Given the description of an element on the screen output the (x, y) to click on. 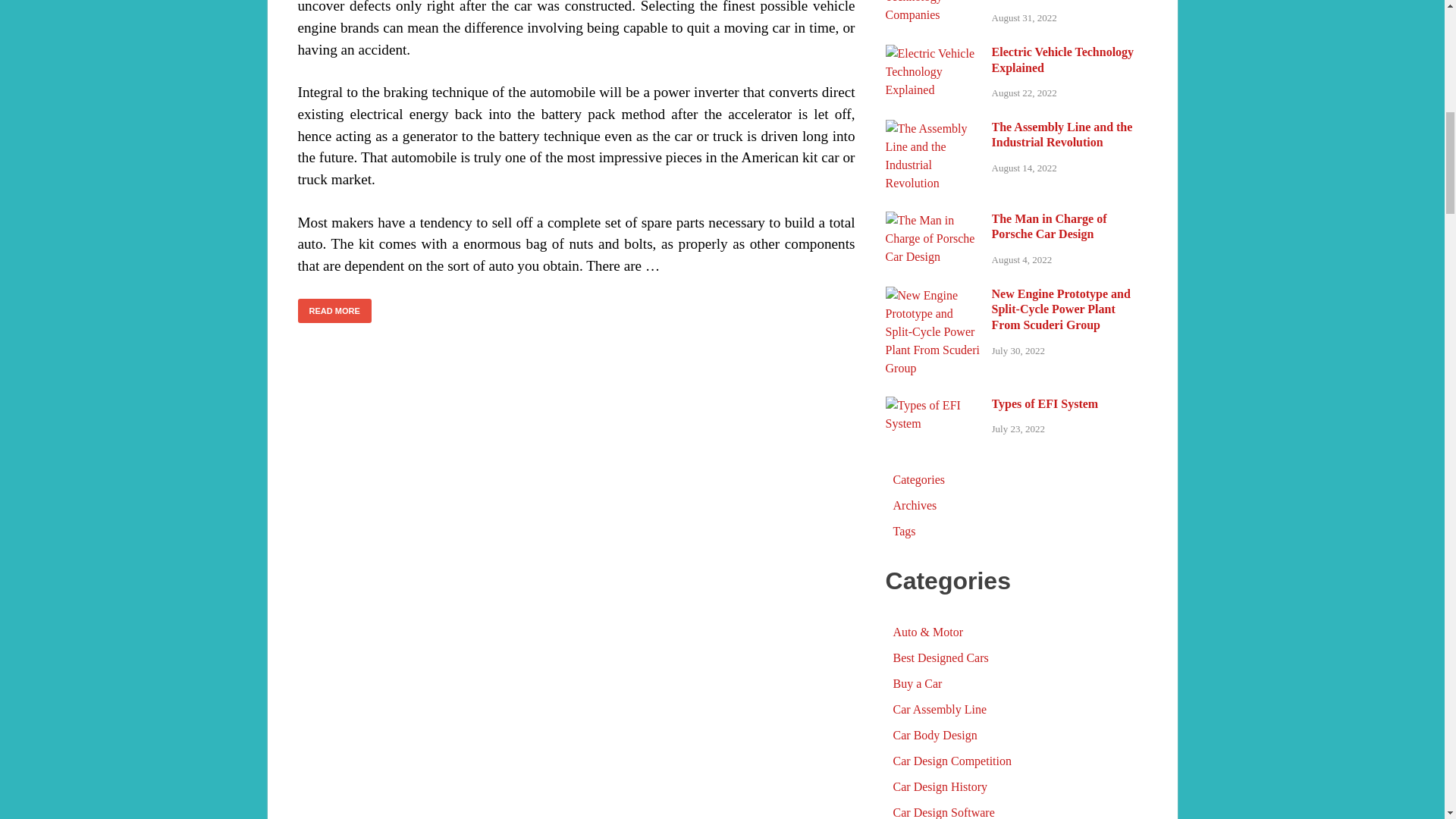
The Man in Charge of Porsche Car Design (932, 302)
Types of EFI System (932, 487)
The Assembly Line and the Industrial Revolution (932, 210)
Electric Vehicle Technology Explained (932, 136)
Electric Vehicle Technology Companies (932, 61)
